Given the description of an element on the screen output the (x, y) to click on. 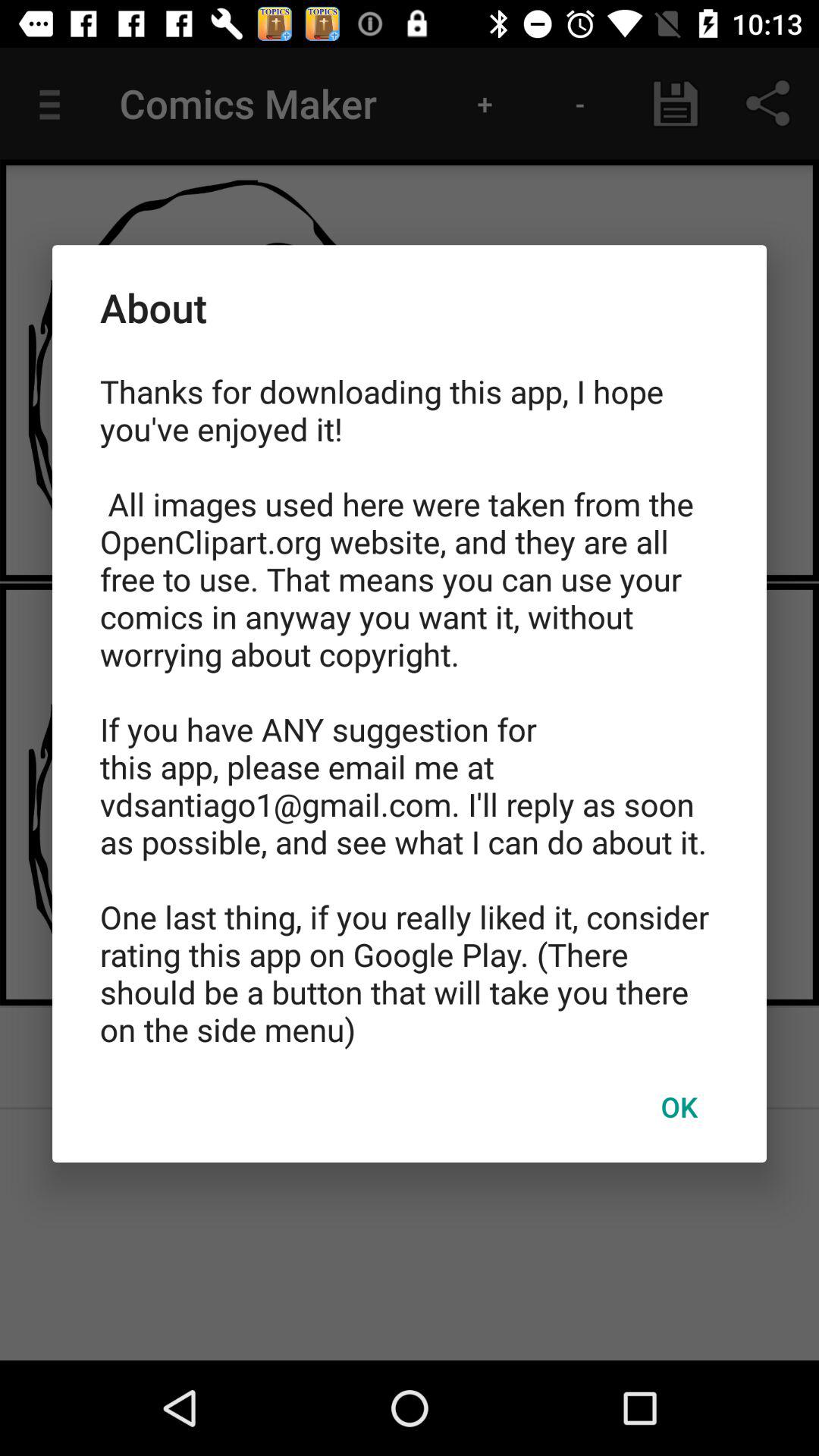
select ok (678, 1106)
